Given the description of an element on the screen output the (x, y) to click on. 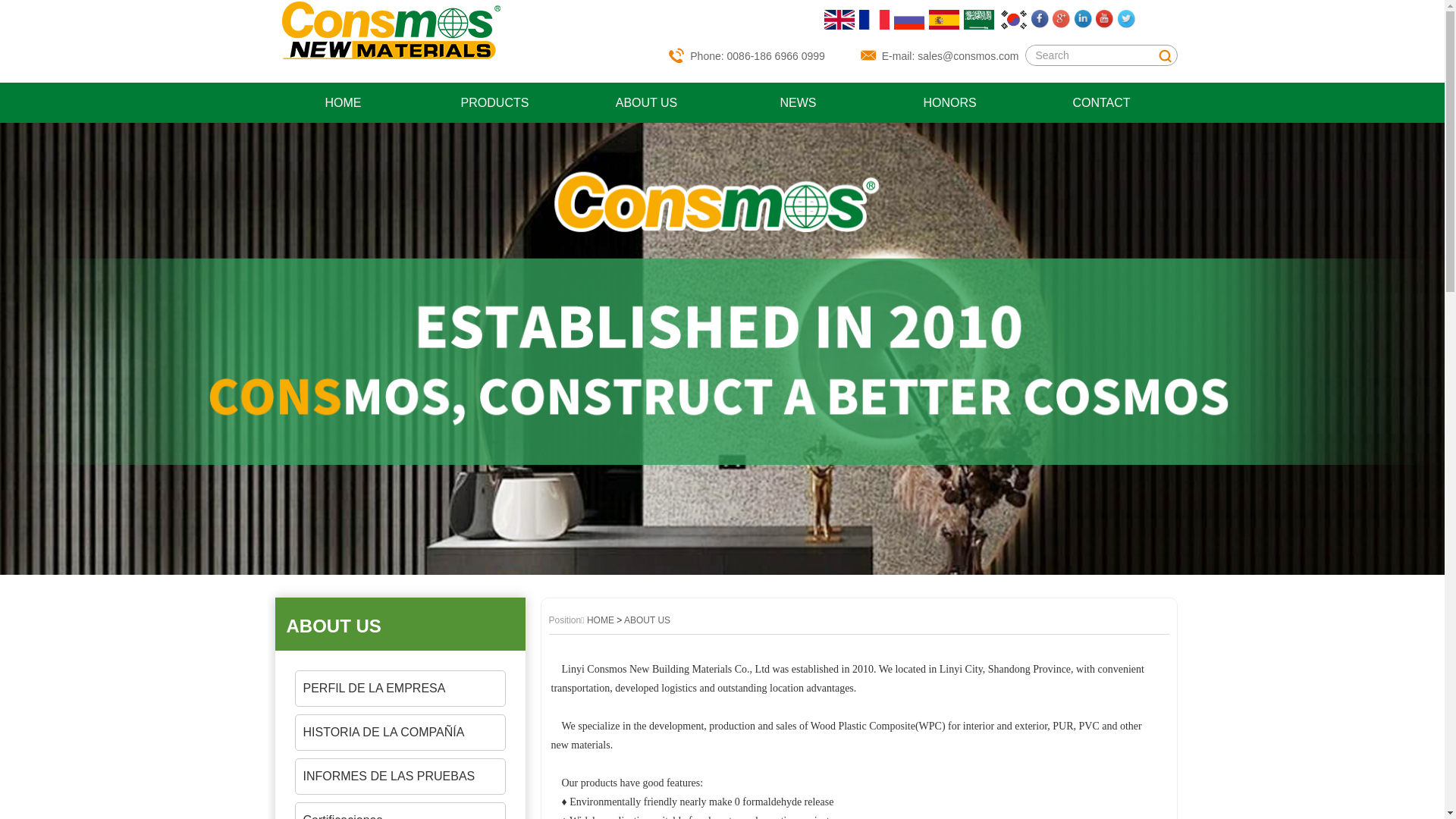
ABOUT US Element type: text (647, 620)
sales@consmos.com Element type: text (967, 56)
HOME Element type: text (600, 620)
PRODUCTS Element type: text (495, 102)
HONORS Element type: text (948, 102)
PERFIL DE LA EMPRESA Element type: text (397, 688)
NEWS Element type: text (797, 102)
CONTACT Element type: text (1100, 102)
HOME Element type: text (342, 102)
ABOUT US Element type: text (405, 626)
ABOUT US Element type: text (646, 102)
INFORMES DE LAS PRUEBAS Element type: text (397, 776)
